Given the description of an element on the screen output the (x, y) to click on. 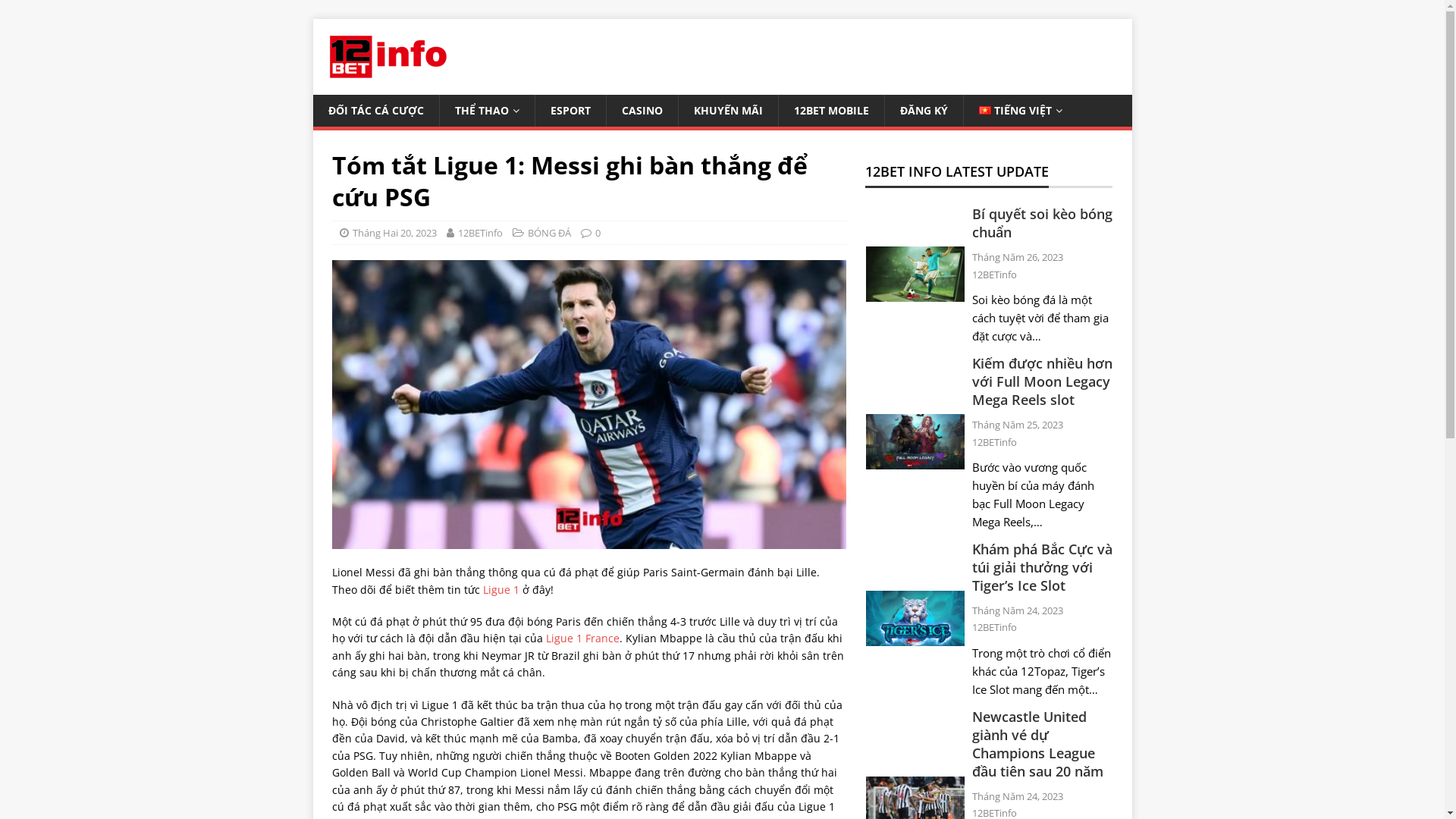
ESPORT Element type: text (569, 110)
12BET MOBILE Element type: text (831, 110)
12BETinfo Element type: text (994, 441)
Ligue 1 Recap: Messi scored winning goal to saved PSG Element type: hover (589, 404)
12BETinfo Element type: text (994, 626)
12BETinfo Element type: text (994, 274)
Ligue 1 France Element type: text (582, 637)
CASINO Element type: text (641, 110)
0 Element type: text (596, 232)
Ligue 1 Element type: text (500, 589)
12BETinfo Element type: text (480, 232)
